Given the description of an element on the screen output the (x, y) to click on. 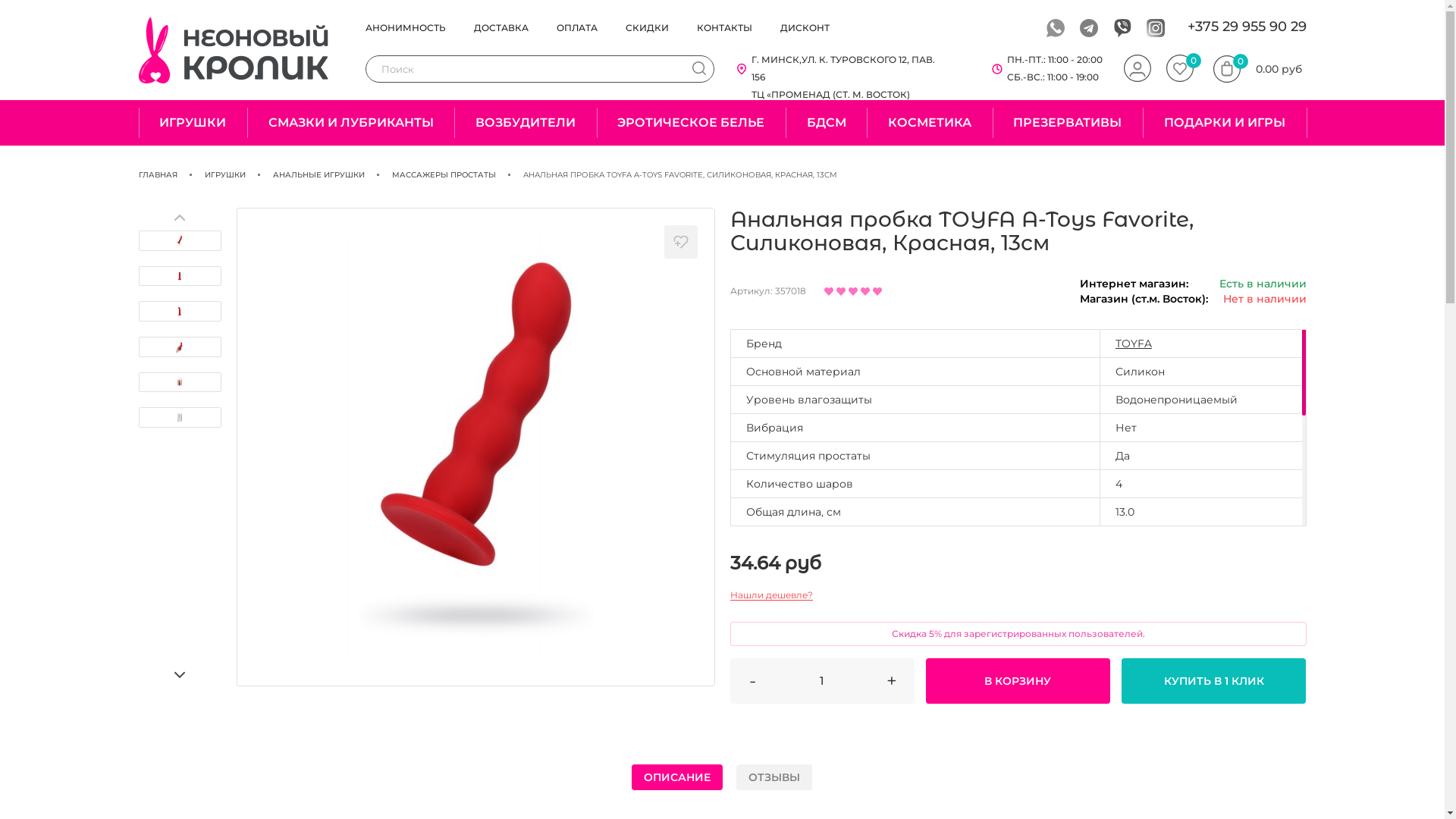
0 Element type: text (1179, 68)
+375 29 955 90 29 Element type: text (1246, 27)
TOYFA Element type: text (1133, 343)
